Given the description of an element on the screen output the (x, y) to click on. 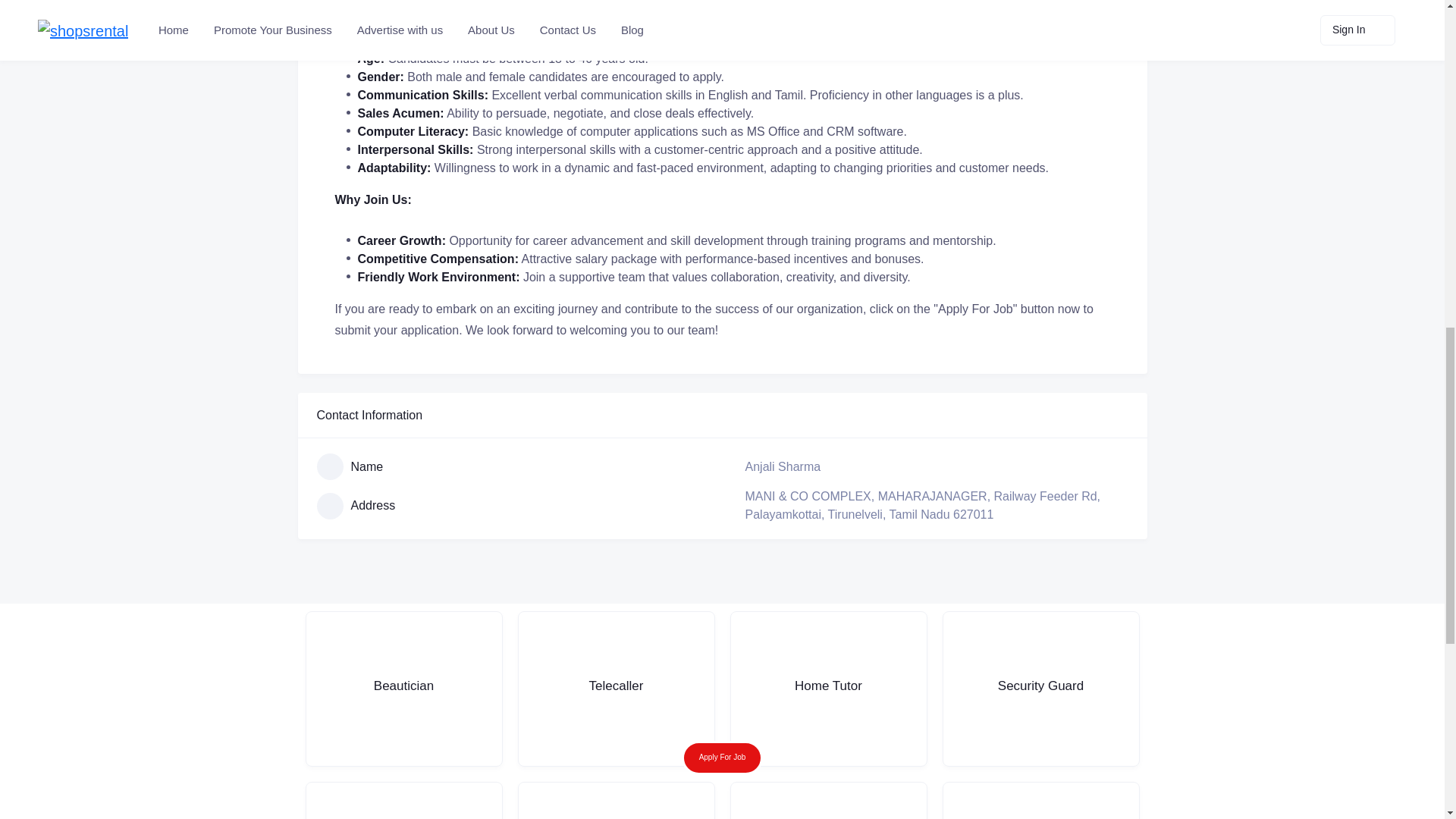
Home Tutor (827, 688)
Driver (1040, 800)
Store Incharge (827, 800)
Shop Keeper (615, 800)
Telecaller (615, 688)
Beautician (403, 688)
Store Assistant (403, 800)
Security Guard (1040, 688)
